Given the description of an element on the screen output the (x, y) to click on. 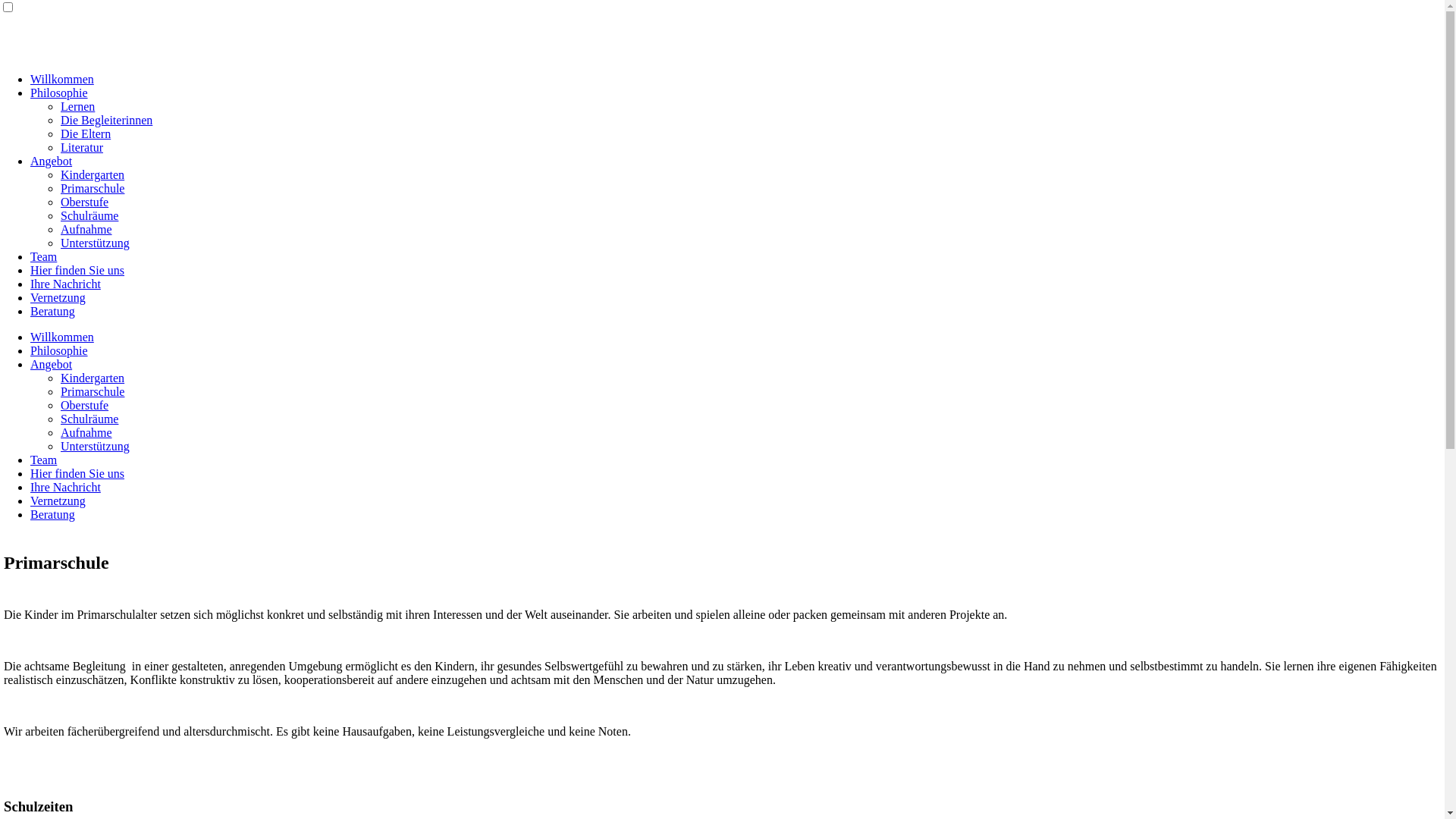
Team Element type: text (43, 256)
Philosophie Element type: text (58, 92)
Oberstufe Element type: text (84, 201)
Ihre Nachricht Element type: text (65, 486)
Literatur Element type: text (81, 147)
Ihre Nachricht Element type: text (65, 283)
Angebot Element type: text (51, 160)
Primarschule Element type: text (92, 391)
Vernetzung Element type: text (57, 500)
Angebot Element type: text (51, 363)
Die Eltern Element type: text (85, 133)
Oberstufe Element type: text (84, 404)
Lernen Element type: text (77, 106)
Willkommen Element type: text (62, 78)
Primarschule Element type: text (92, 188)
Team Element type: text (43, 459)
Aufnahme Element type: text (86, 432)
Kindergarten Element type: text (92, 377)
Vernetzung Element type: text (57, 297)
Philosophie Element type: text (58, 350)
Beratung Element type: text (52, 514)
Aufnahme Element type: text (86, 228)
Willkommen Element type: text (62, 336)
Hier finden Sie uns Element type: text (77, 473)
Die Begleiterinnen Element type: text (106, 119)
Hier finden Sie uns Element type: text (77, 269)
Beratung Element type: text (52, 310)
Kindergarten Element type: text (92, 174)
